Given the description of an element on the screen output the (x, y) to click on. 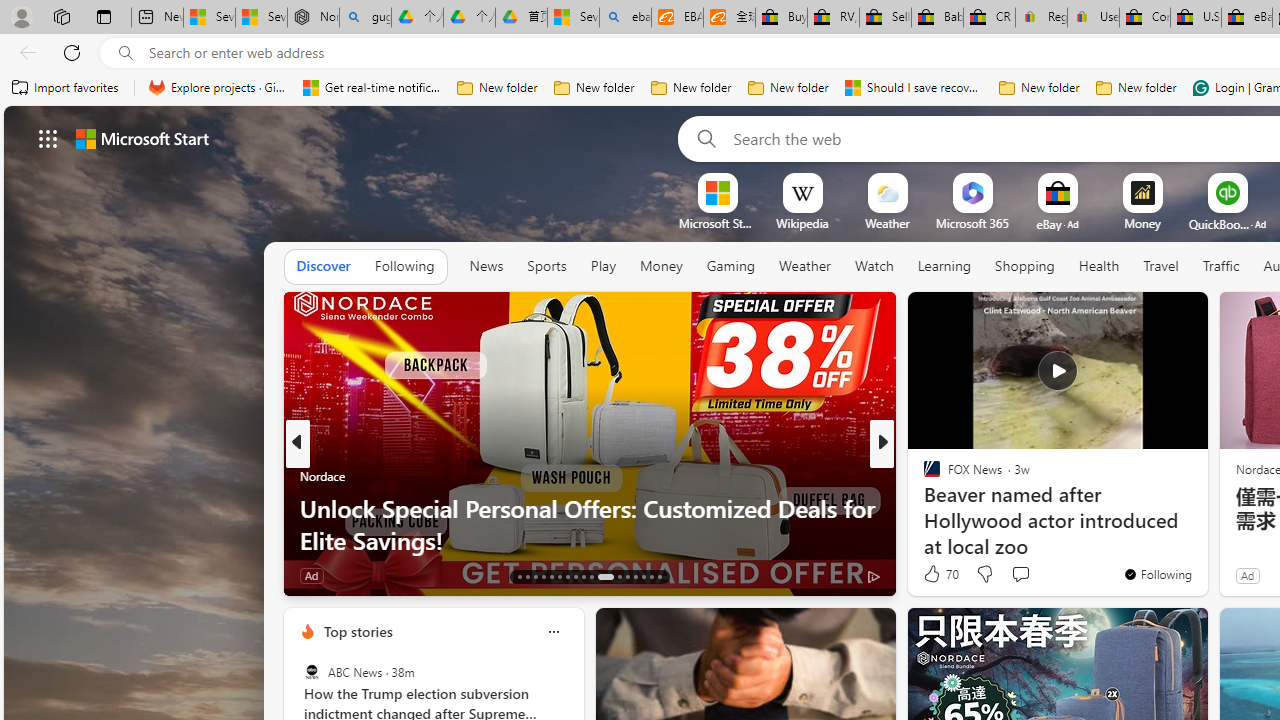
AutomationID: tab-33 (642, 576)
Real Wild (923, 507)
AutomationID: tab-15 (535, 576)
Search (702, 138)
Shopping (1025, 267)
AutomationID: tab-13 (518, 576)
View comments 24 Comment (1019, 575)
AutomationID: tab-14 (527, 576)
Microsoft 365 (971, 223)
Wikipedia (802, 223)
Class: icon-img (553, 632)
News (486, 265)
View comments 24 Comment (1029, 574)
AutomationID: tab-19 (567, 576)
